Given the description of an element on the screen output the (x, y) to click on. 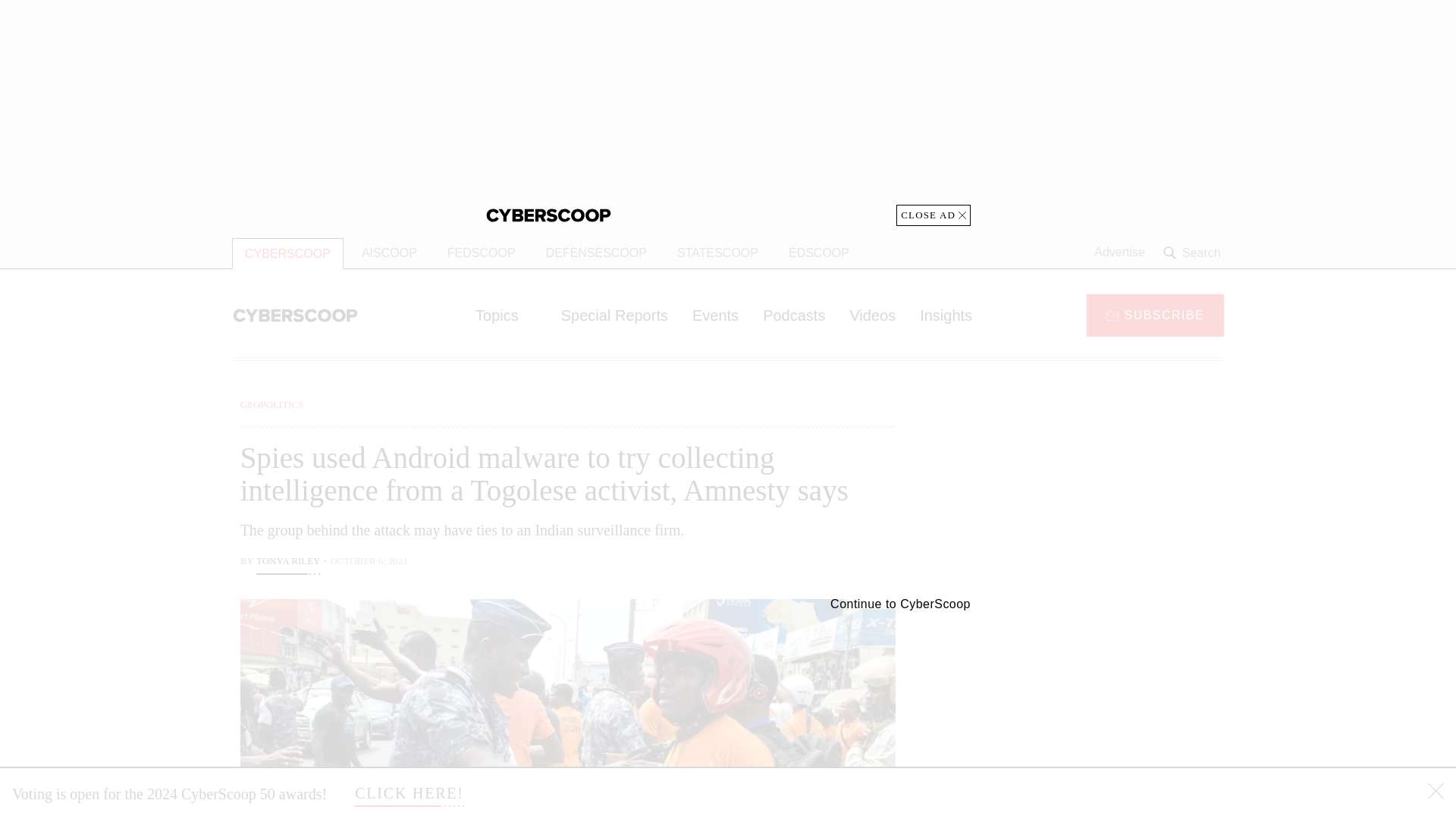
Advertise (1119, 252)
EDSCOOP (818, 253)
FEDSCOOP (481, 253)
CYBERSCOOP (287, 253)
Events (715, 315)
SUBSCRIBE (1155, 314)
3rd party ad content (1101, 492)
Topics (505, 315)
DEFENSESCOOP (596, 253)
